Given the description of an element on the screen output the (x, y) to click on. 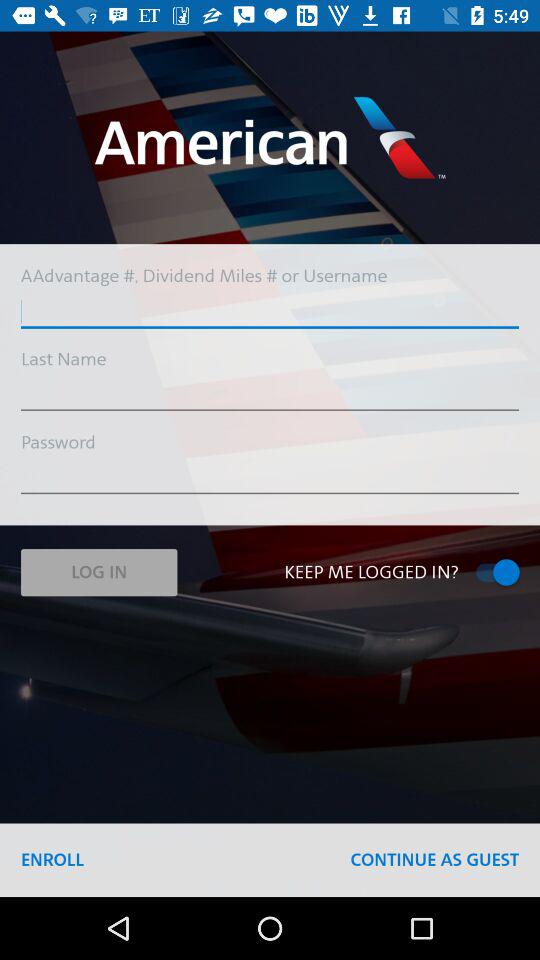
open item next to the enroll (434, 859)
